Given the description of an element on the screen output the (x, y) to click on. 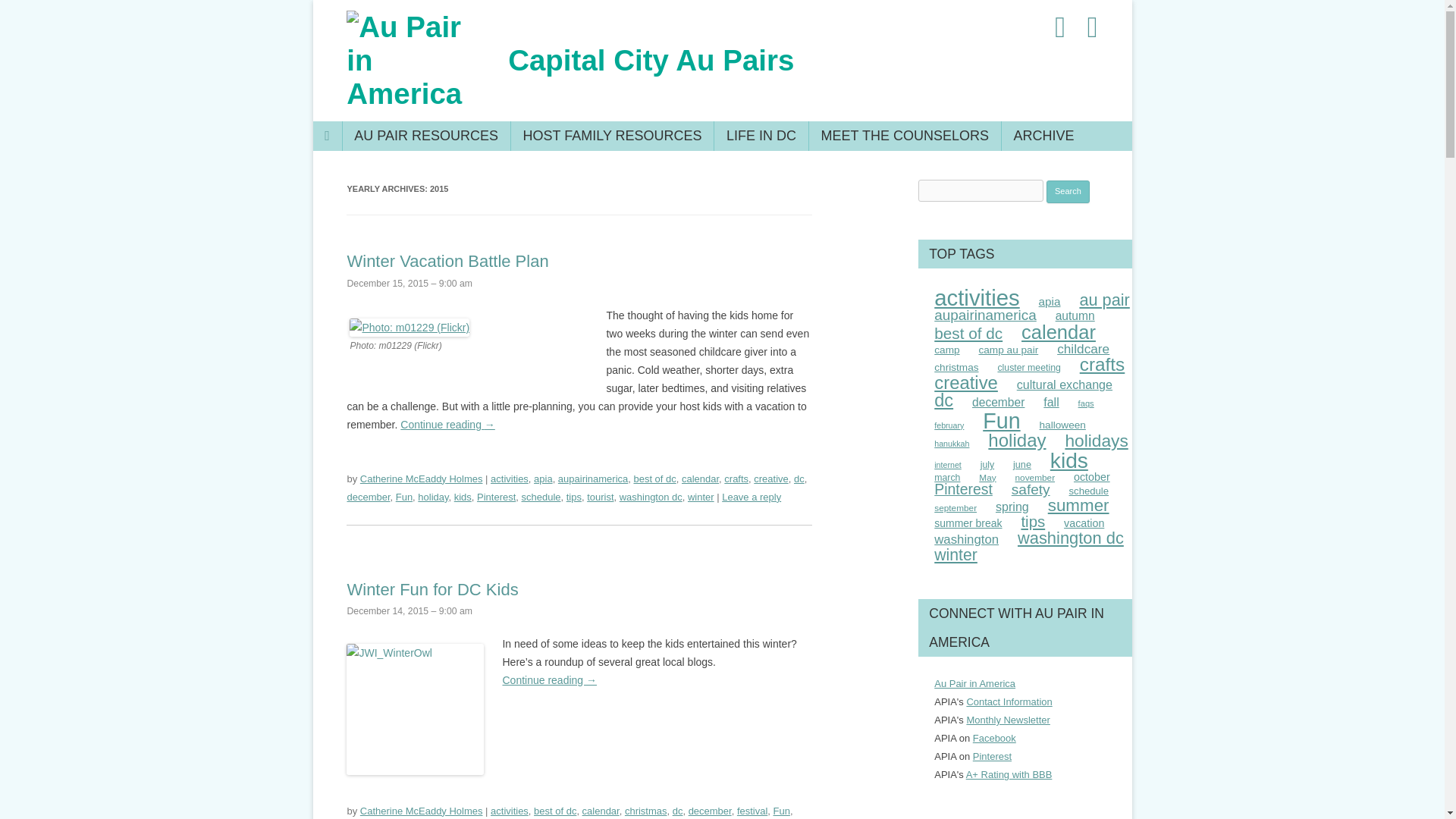
Au Pair in America Corporate Page (994, 737)
Catherine McEaddy Holmes (421, 478)
Search (1067, 191)
schedule (540, 496)
LIFE IN DC (760, 135)
Fun (404, 496)
apia (543, 478)
aupairinamerica (592, 478)
Pinterest (496, 496)
Capital City Au Pairs (650, 60)
Winter Vacation Battle Plan (447, 261)
tips (573, 496)
holiday (432, 496)
MEET THE COUNSELORS (904, 135)
best of dc (654, 478)
